Given the description of an element on the screen output the (x, y) to click on. 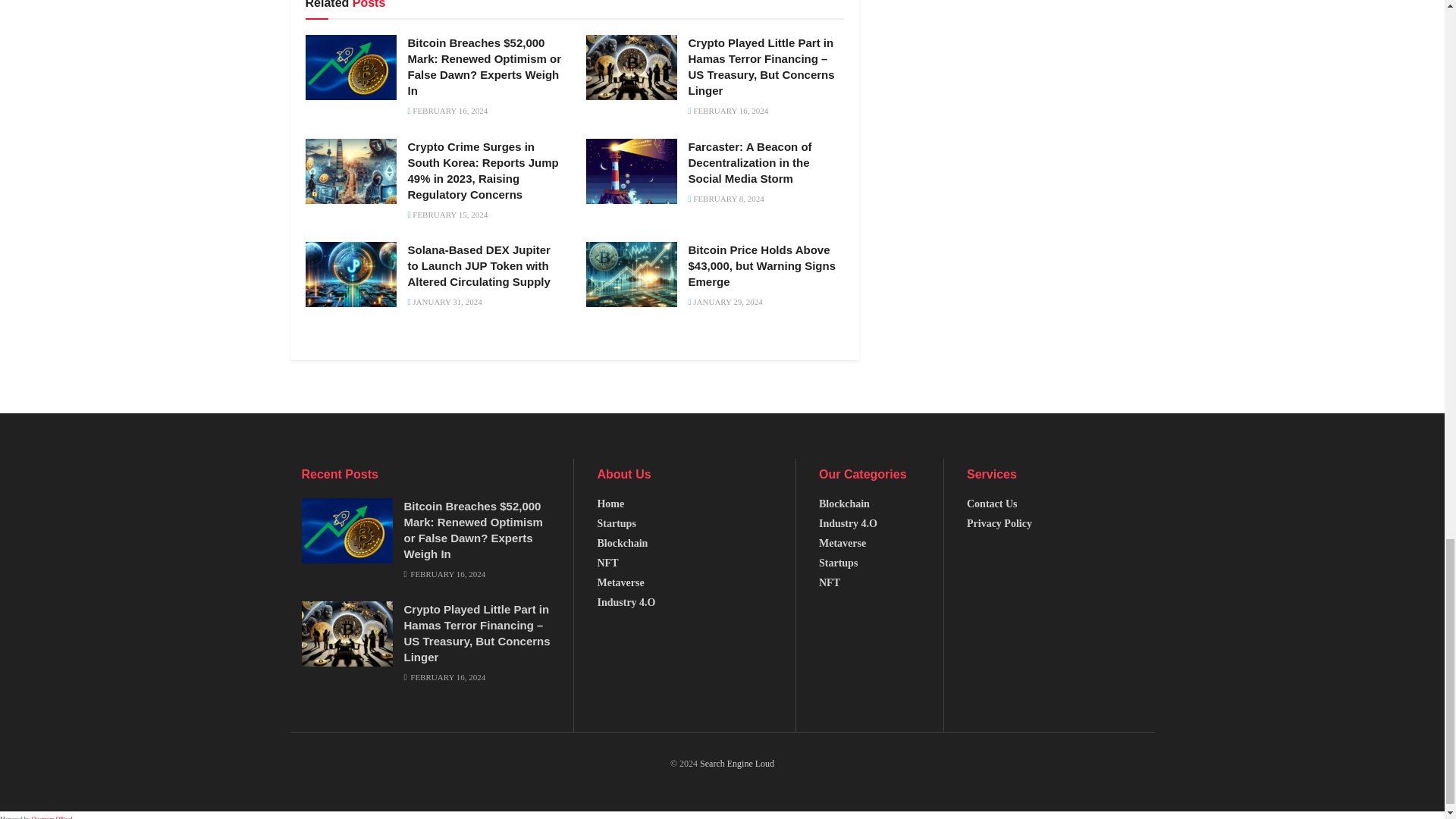
Search Engine Loud (737, 763)
